Given the description of an element on the screen output the (x, y) to click on. 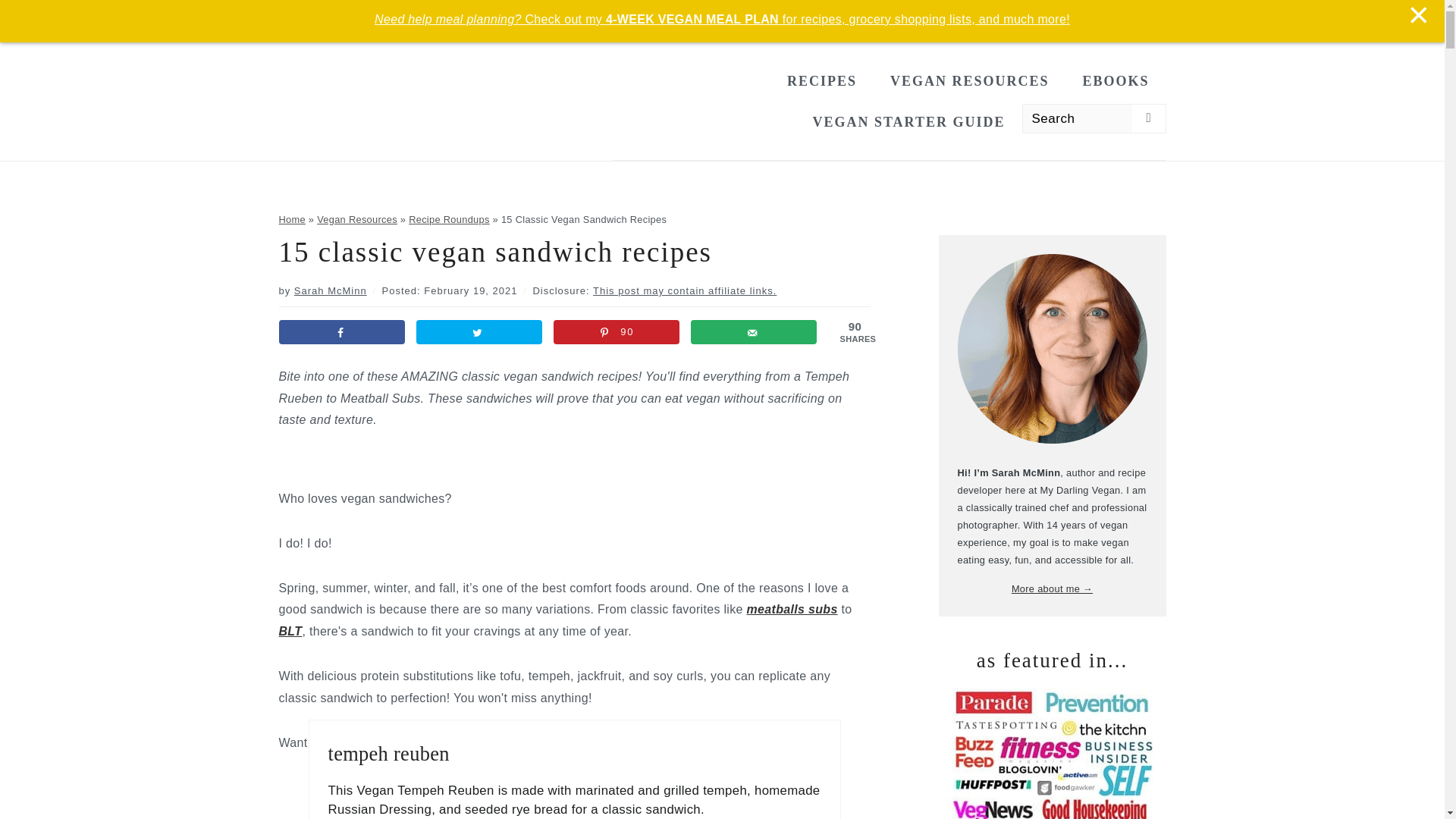
90 (616, 331)
meatballs subs (792, 608)
Recipe Roundups (449, 219)
Send over email (753, 331)
SHOP (819, 19)
BLT (290, 631)
EBOOKS (1115, 80)
Share on Facebook (342, 331)
Share on Twitter (479, 331)
Sarah McMinn (330, 290)
RECIPES (821, 80)
VEGAN RESOURCES (970, 80)
Vegan Resources (357, 219)
Home (292, 219)
CONTACT (609, 19)
